Given the description of an element on the screen output the (x, y) to click on. 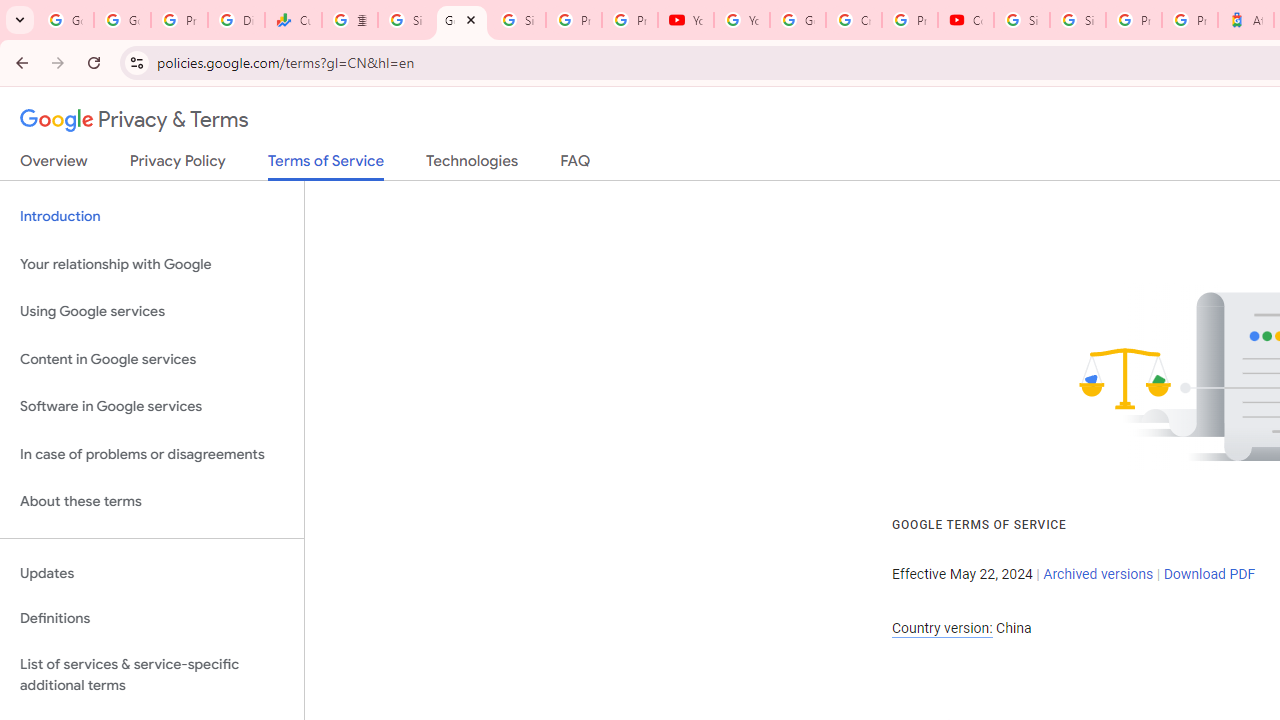
Terms of Service (326, 166)
Privacy & Terms (134, 120)
Archived versions (1098, 574)
In case of problems or disagreements (152, 453)
Sign in - Google Accounts (1021, 20)
Currencies - Google Finance (293, 20)
Content Creator Programs & Opportunities - YouTube Creators (966, 20)
Country version: (942, 628)
FAQ (575, 165)
